Given the description of an element on the screen output the (x, y) to click on. 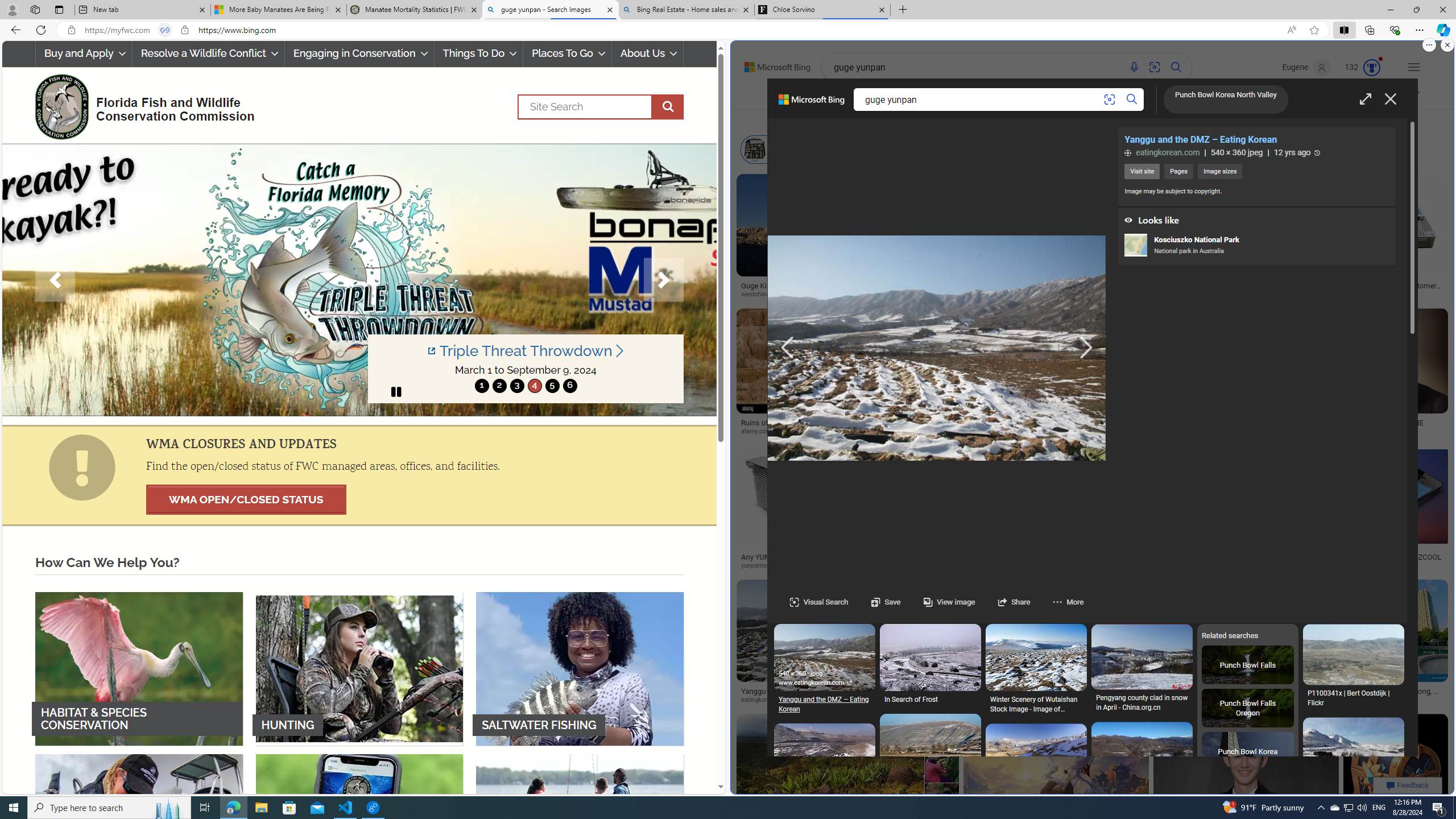
GYUING (1242, 691)
SEARCH (852, 96)
Punch Bowl Falls Oregon (1247, 708)
Moderate SafeSearch: (1356, 96)
ebth.com (950, 565)
zcool.com.cn (1355, 565)
Places To Go (566, 53)
Next (663, 279)
Looks likeKosciuszko National ParkNational park in Australia (1256, 237)
